Given the description of an element on the screen output the (x, y) to click on. 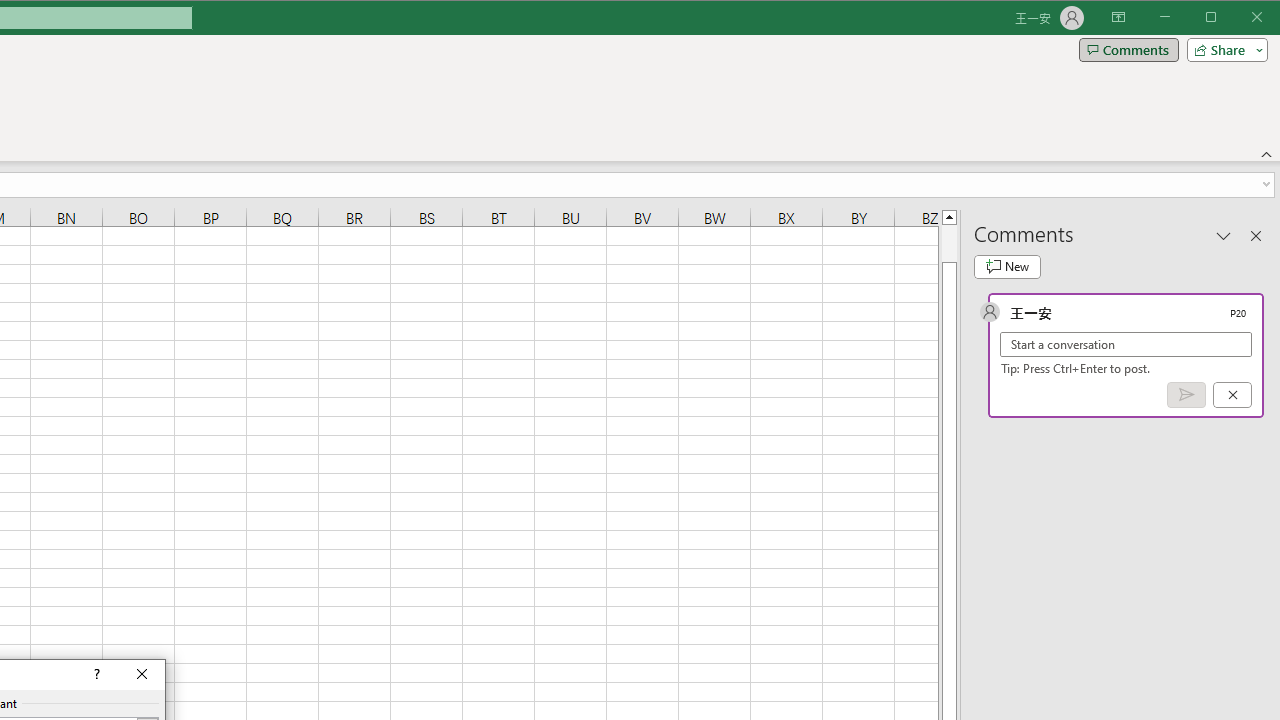
Page up (948, 243)
New comment (1007, 266)
